Given the description of an element on the screen output the (x, y) to click on. 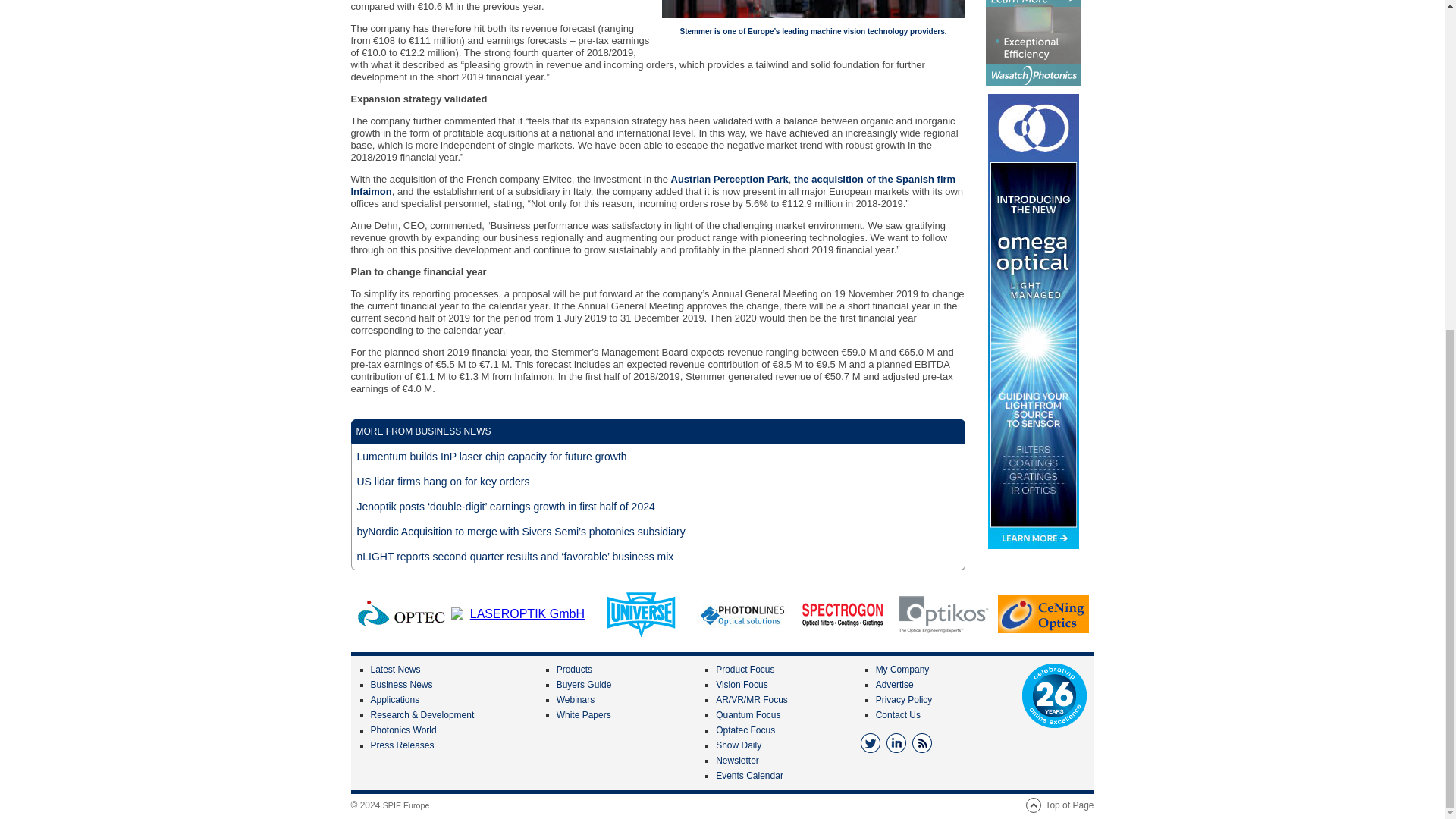
LinkedIn (895, 742)
RSS Feeds (921, 742)
Twitter (870, 742)
